Given the description of an element on the screen output the (x, y) to click on. 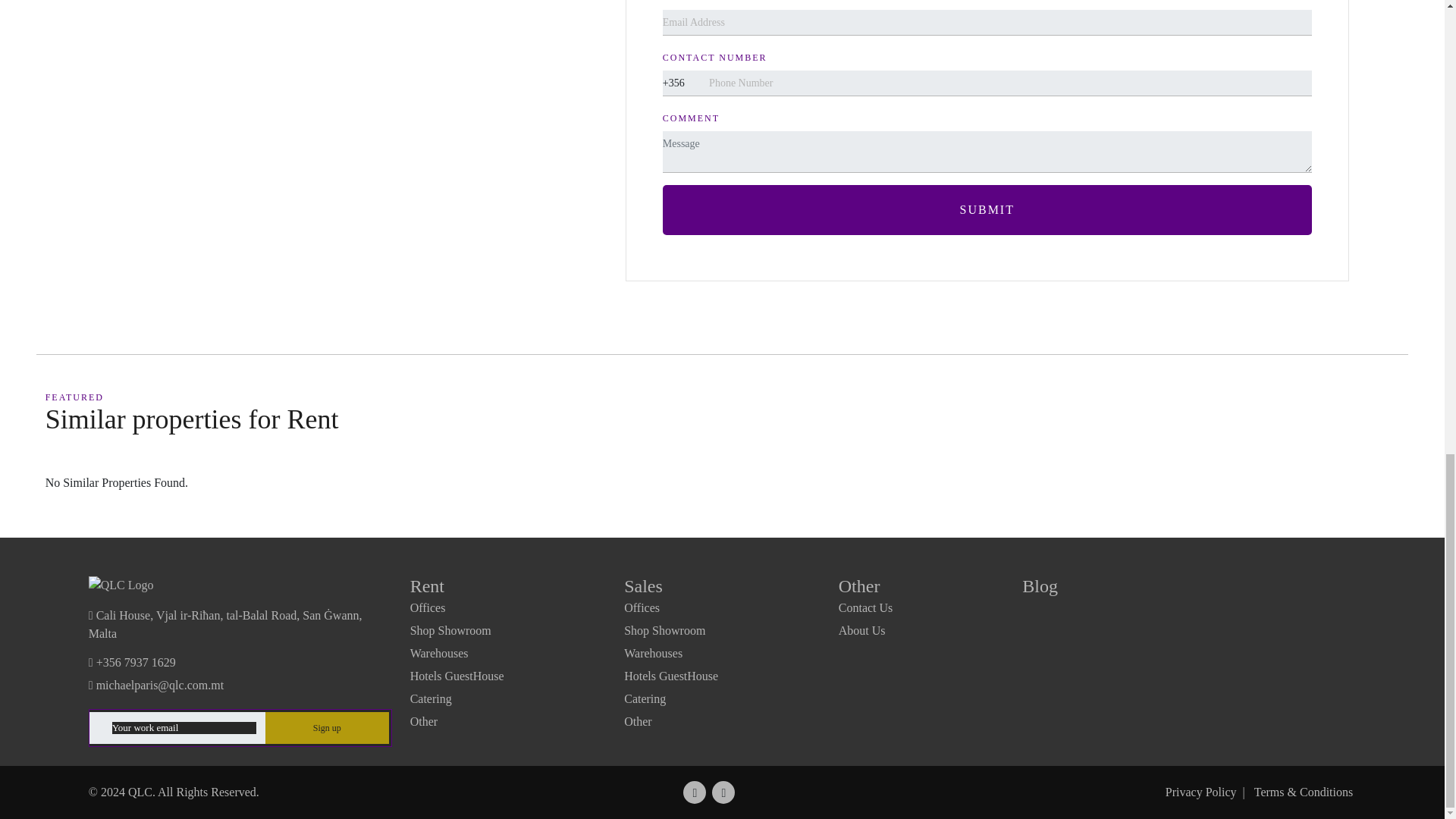
QLC Logo (121, 585)
Linkedin (723, 792)
Facebook (694, 792)
